Given the description of an element on the screen output the (x, y) to click on. 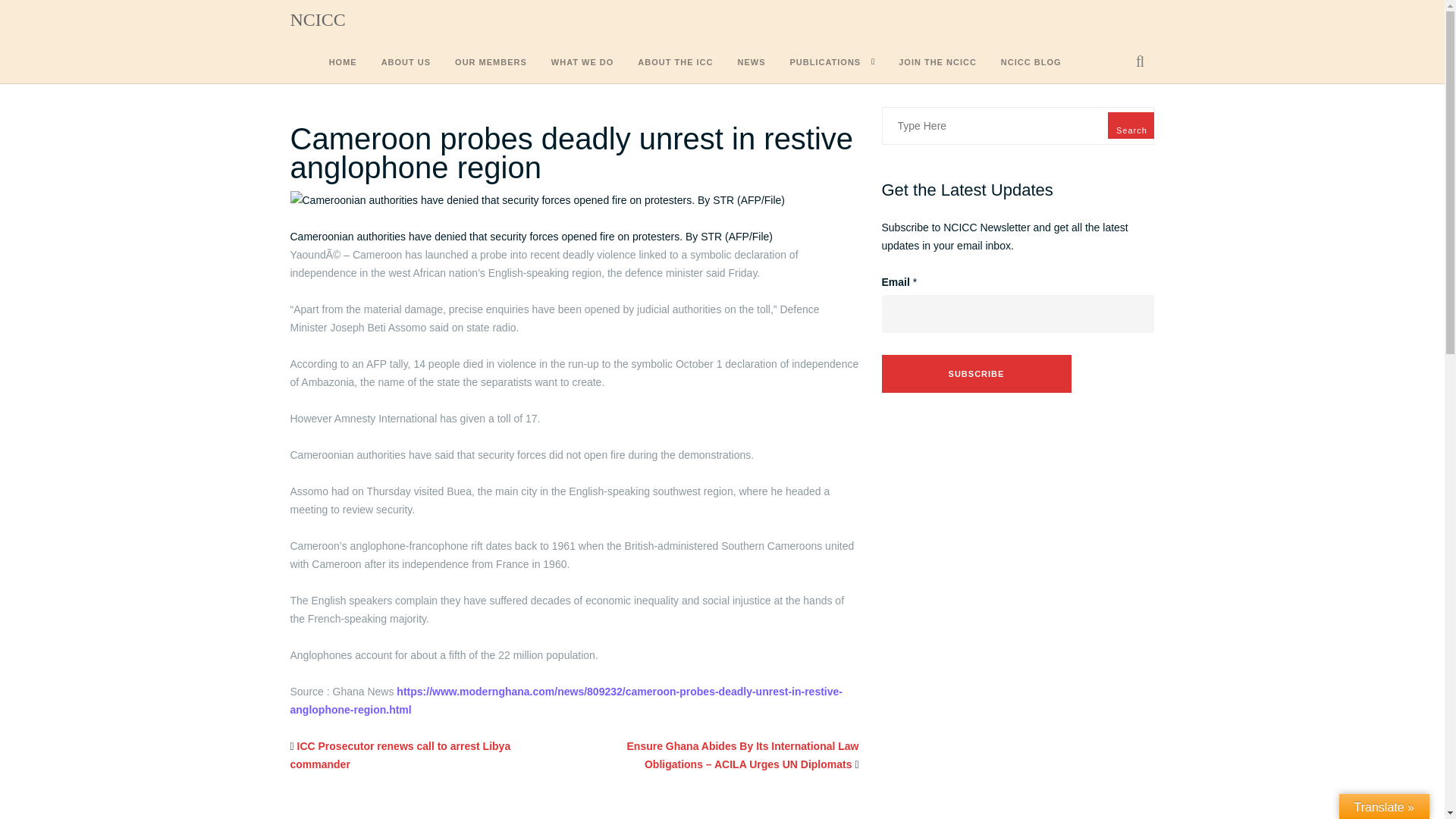
Subscribe (975, 373)
PUBLICATIONS (825, 63)
About Us (405, 63)
Search (1131, 125)
Search (1129, 114)
WHAT WE DO (582, 63)
What We Do (582, 63)
Search (1131, 125)
Cameroon probes deadly unrest in restive anglophone region (571, 153)
ABOUT THE ICC (675, 63)
